Given the description of an element on the screen output the (x, y) to click on. 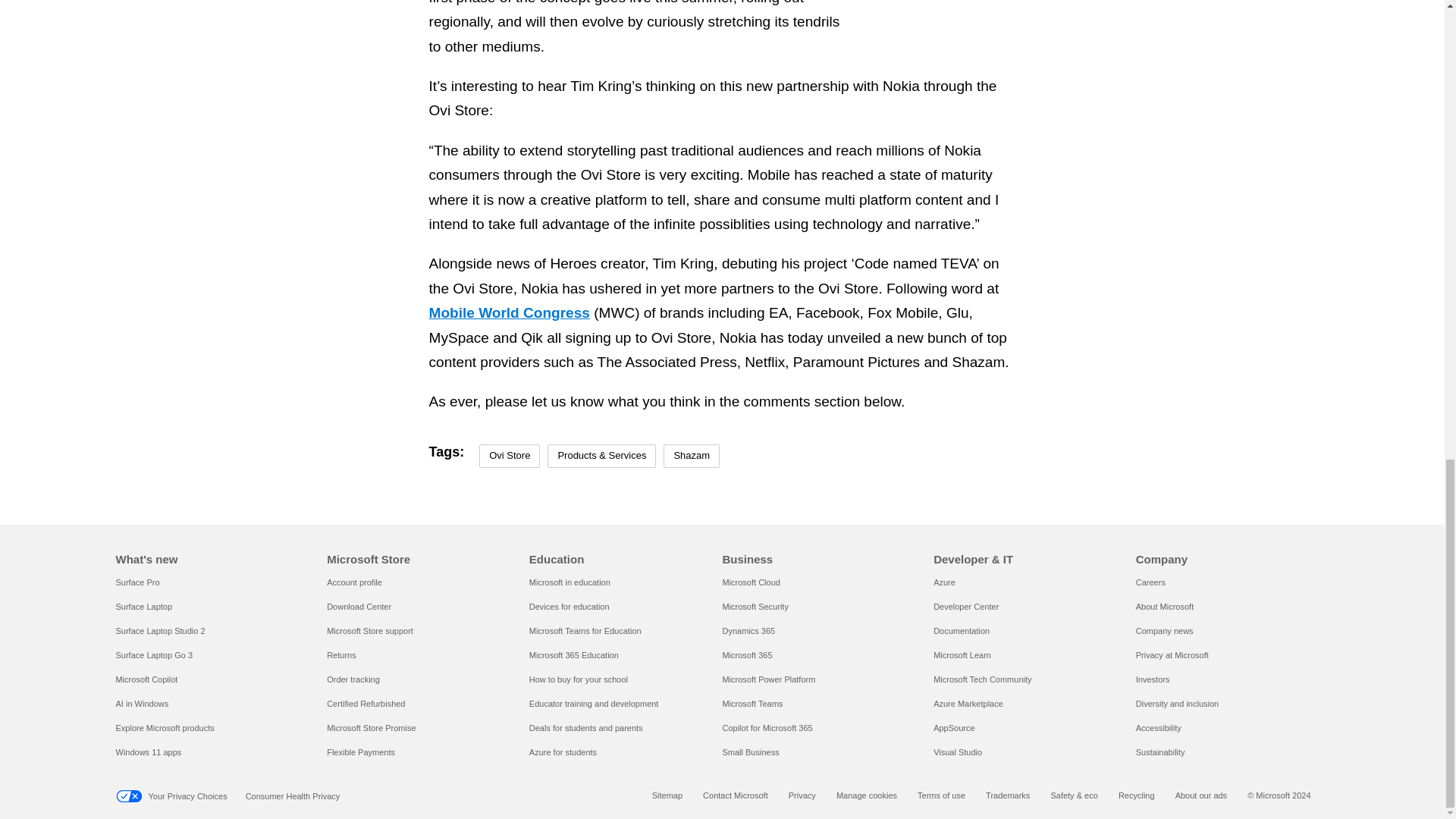
Shazam Tag (691, 455)
Ovi Store Tag (509, 455)
